Given the description of an element on the screen output the (x, y) to click on. 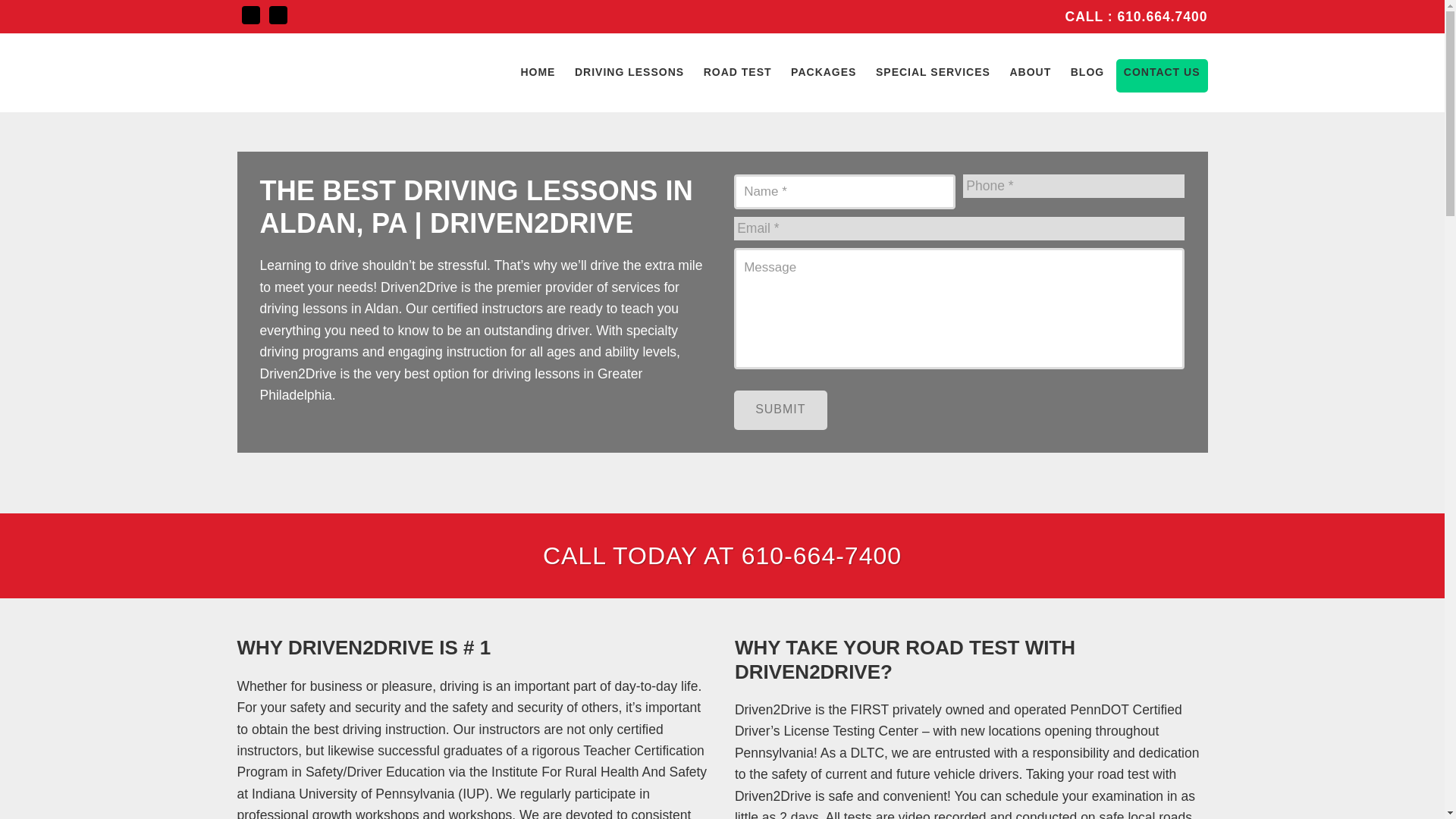
HOME (537, 71)
ABOUT (1029, 71)
CONTACT US (1162, 71)
Submit (780, 409)
Submit (780, 409)
SPECIAL SERVICES (932, 71)
ROAD TEST (736, 71)
DRIVING LESSONS (629, 71)
BLOG (1087, 71)
PACKAGES (823, 71)
